Given the description of an element on the screen output the (x, y) to click on. 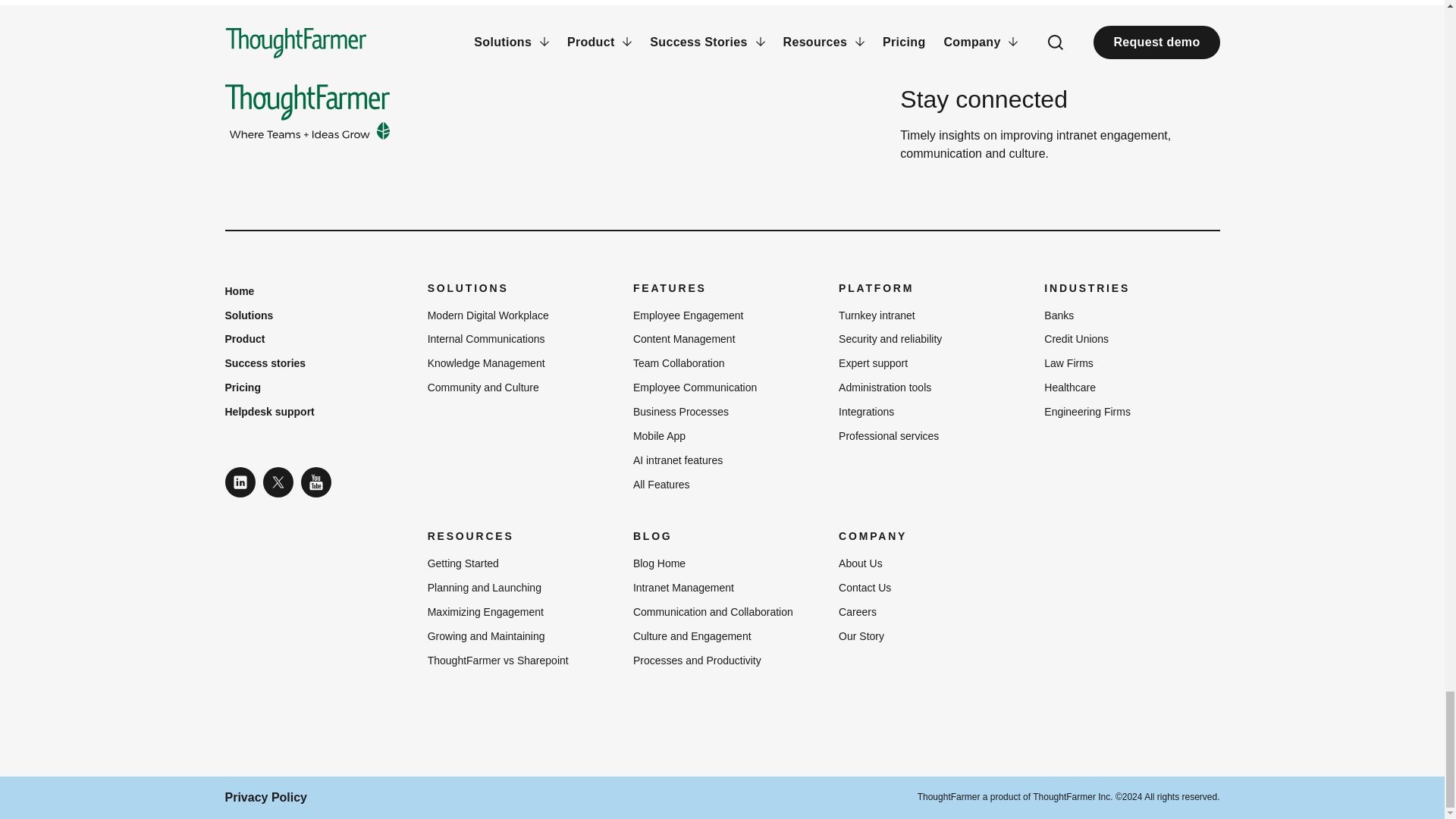
Watch ThoughtFarmer Videos on Youtube (314, 481)
Follow ThoughtFarmer on Twitter (277, 481)
Connect with ThoughtFarmer on LinkedIn (239, 481)
